Given the description of an element on the screen output the (x, y) to click on. 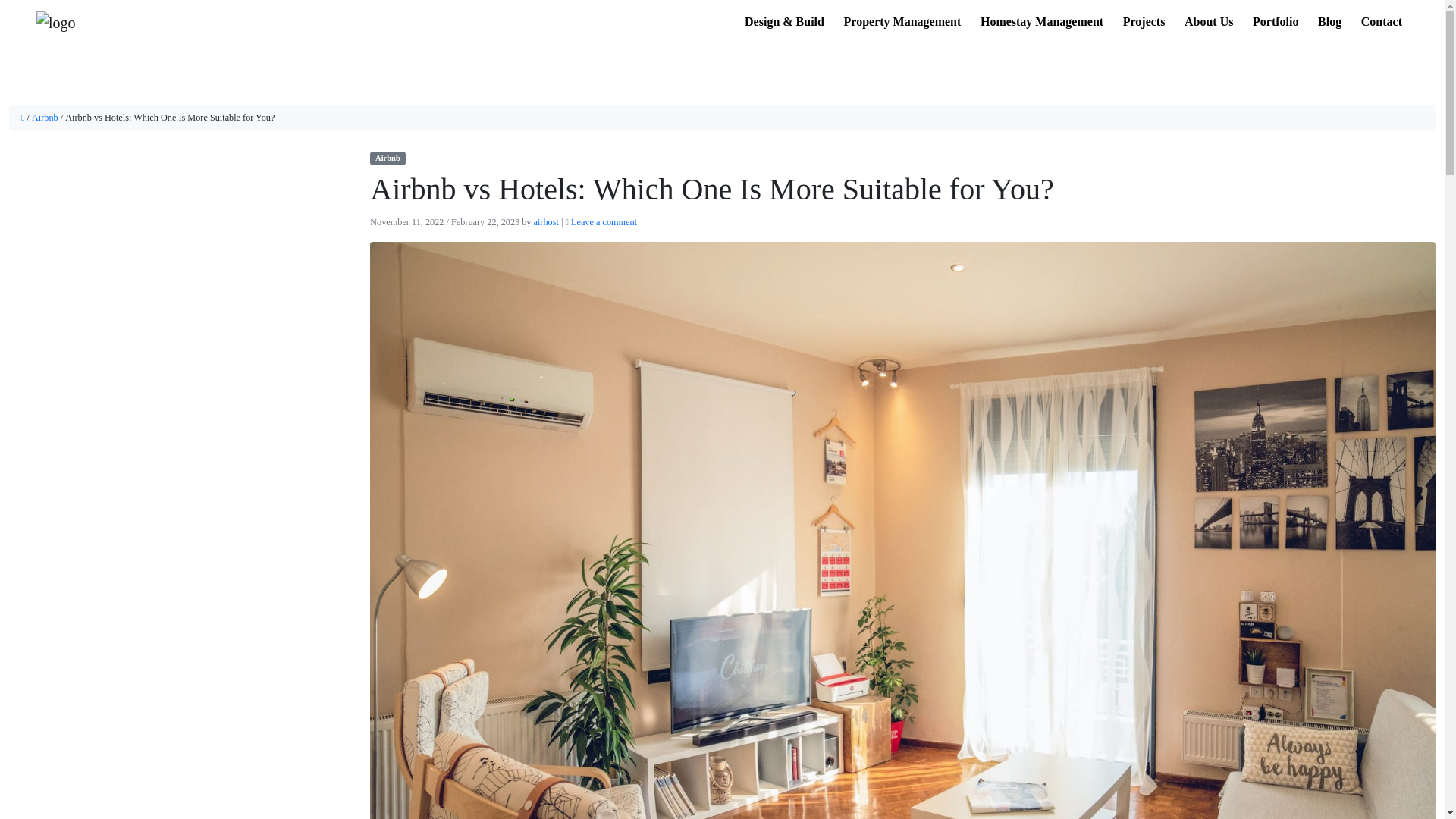
About Us (1208, 21)
Posts by airhost (546, 222)
Contact (1376, 21)
Blog (1329, 21)
Projects (1143, 21)
Property Management (902, 21)
airhost (546, 222)
Airbnb (386, 158)
Leave a comment (603, 222)
Homestay Management (1042, 21)
